Given the description of an element on the screen output the (x, y) to click on. 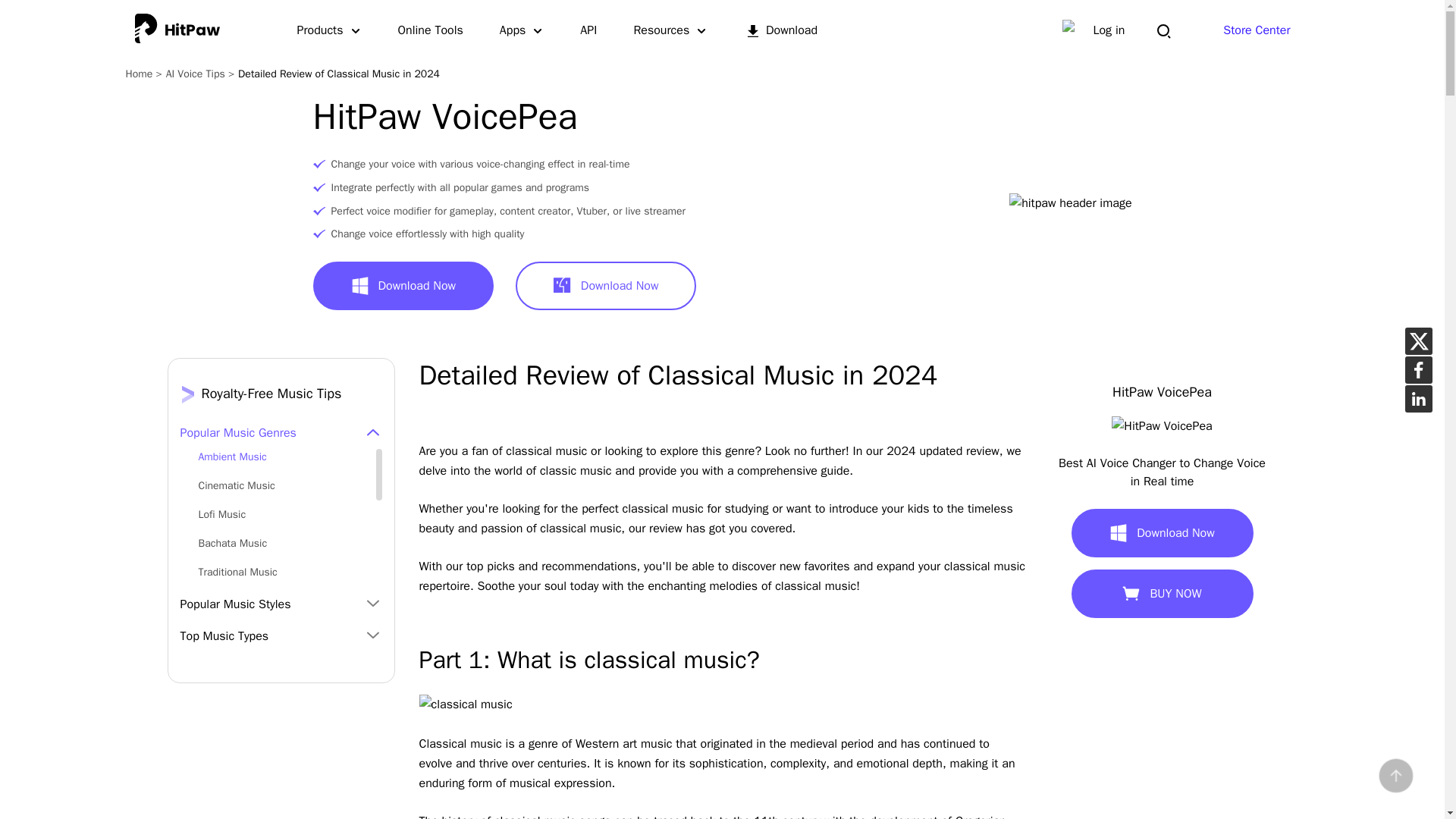
Log in (1108, 30)
Store Center (1256, 30)
Products (329, 30)
